Given the description of an element on the screen output the (x, y) to click on. 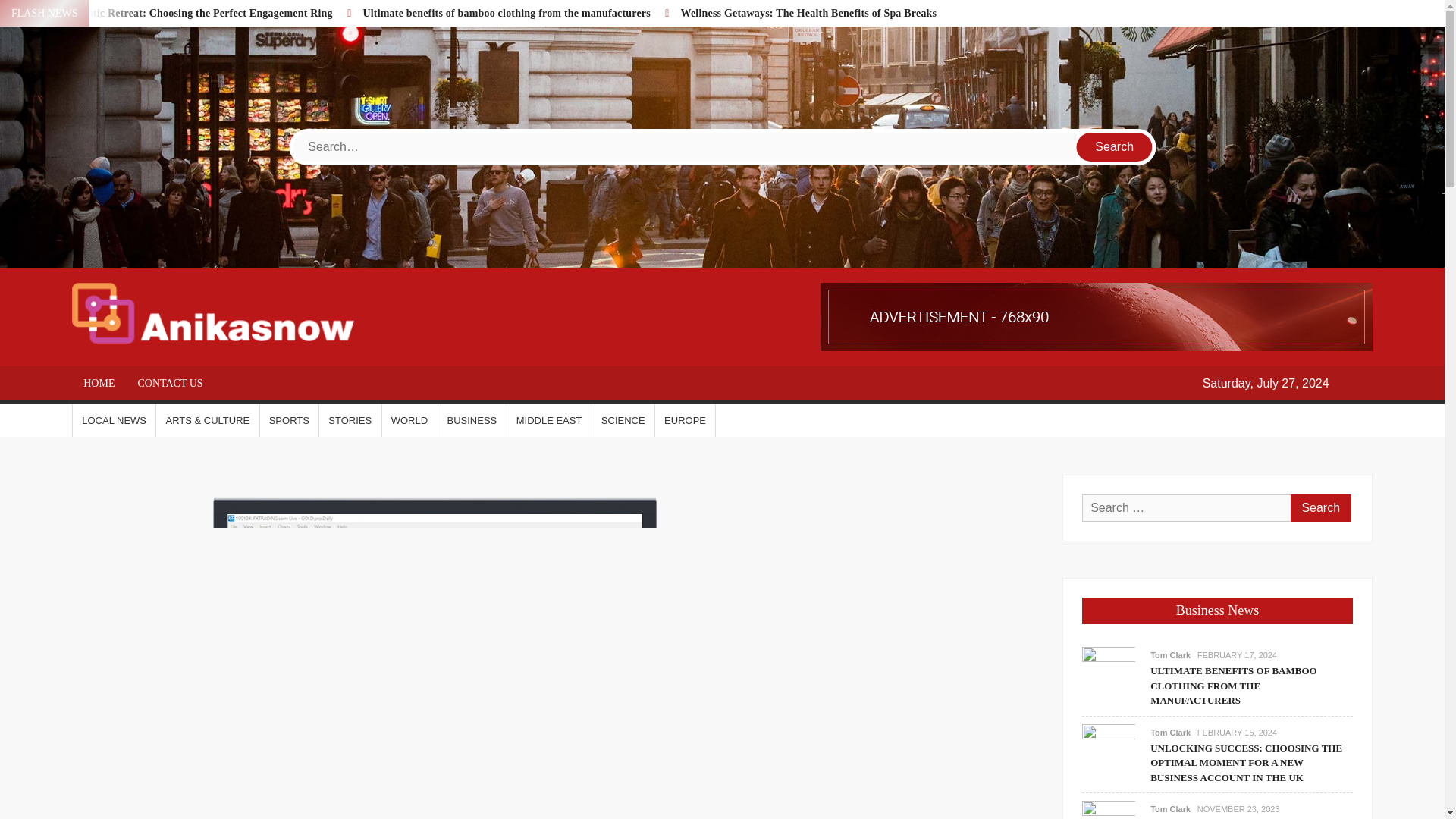
Ultimate benefits of bamboo clothing from the manufacturers (506, 12)
CONTACT US (169, 382)
STORIES (349, 419)
Wellness Getaways: The Health Benefits of Spa Breaks (807, 12)
SPORTS (289, 419)
Search (1115, 146)
Search (1320, 507)
Search (1320, 507)
Wellness Getaways: The Health Benefits of Spa Breaks (807, 12)
MIDDLE EAST (548, 419)
Ultimate benefits of bamboo clothing from the manufacturers (1108, 672)
ANIKASNOW (463, 329)
Search (1115, 146)
Ultimate benefits of bamboo clothing from the manufacturers (506, 12)
LOCAL NEWS (113, 419)
